Given the description of an element on the screen output the (x, y) to click on. 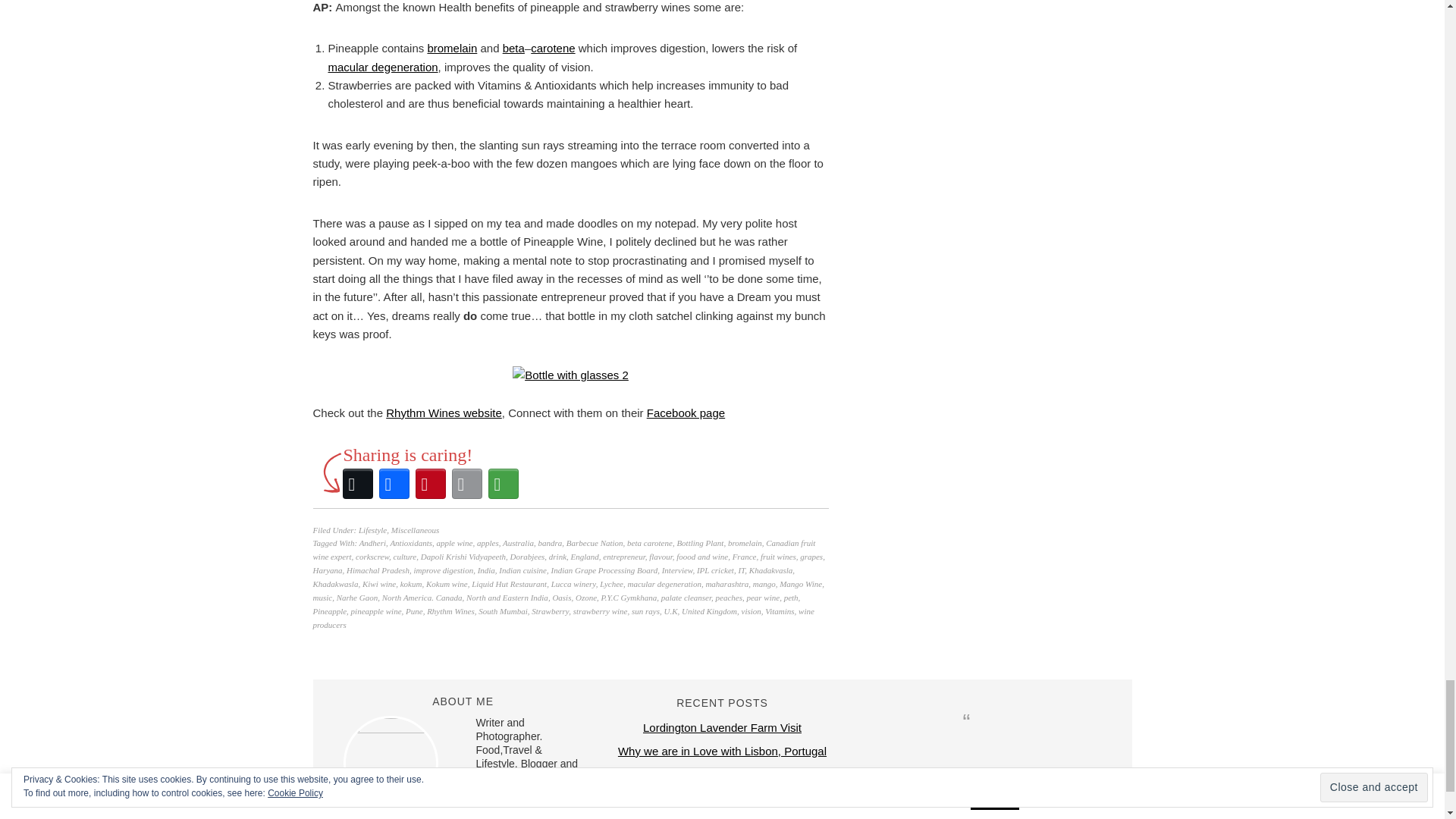
Facebook (393, 484)
More Options (502, 484)
Email This (466, 484)
Pinterest (430, 484)
